Given the description of an element on the screen output the (x, y) to click on. 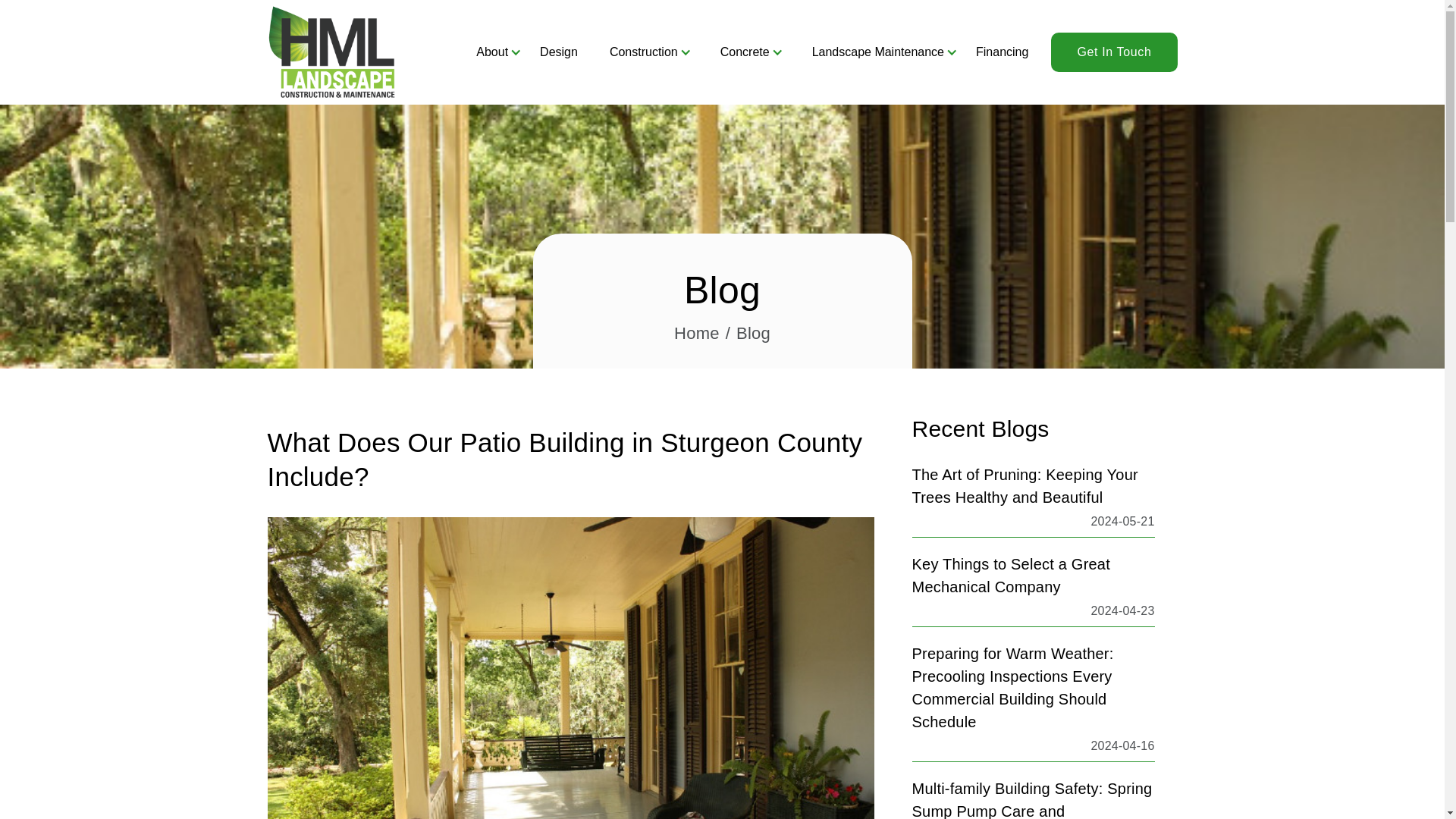
Design (558, 52)
Construction (643, 51)
Concrete (745, 51)
About (491, 51)
Landscape Maintenance (878, 51)
